Given the description of an element on the screen output the (x, y) to click on. 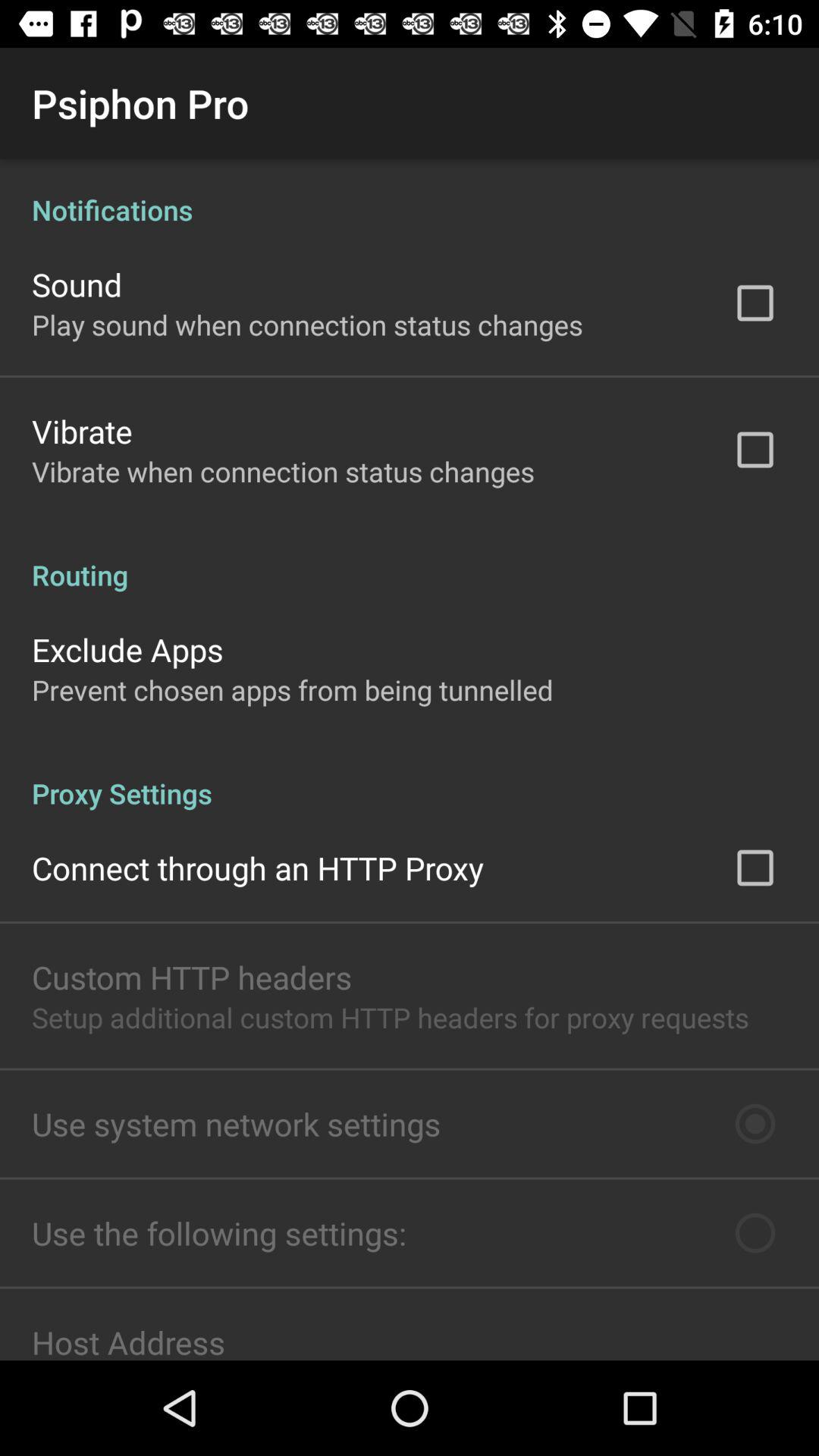
turn off icon below sound icon (306, 324)
